Given the description of an element on the screen output the (x, y) to click on. 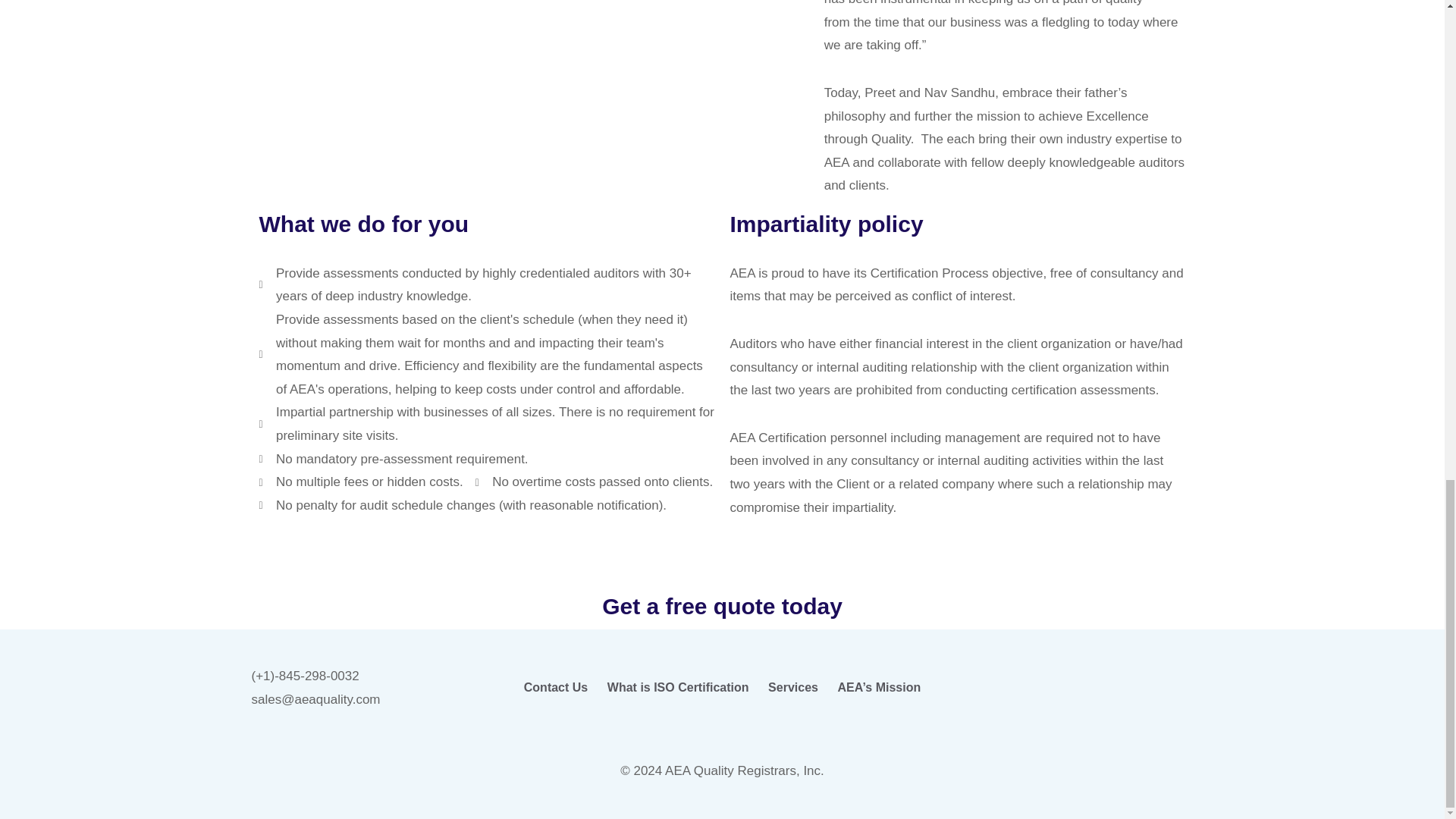
Contact Us (554, 688)
Services (792, 688)
What is ISO Certification (677, 688)
